Given the description of an element on the screen output the (x, y) to click on. 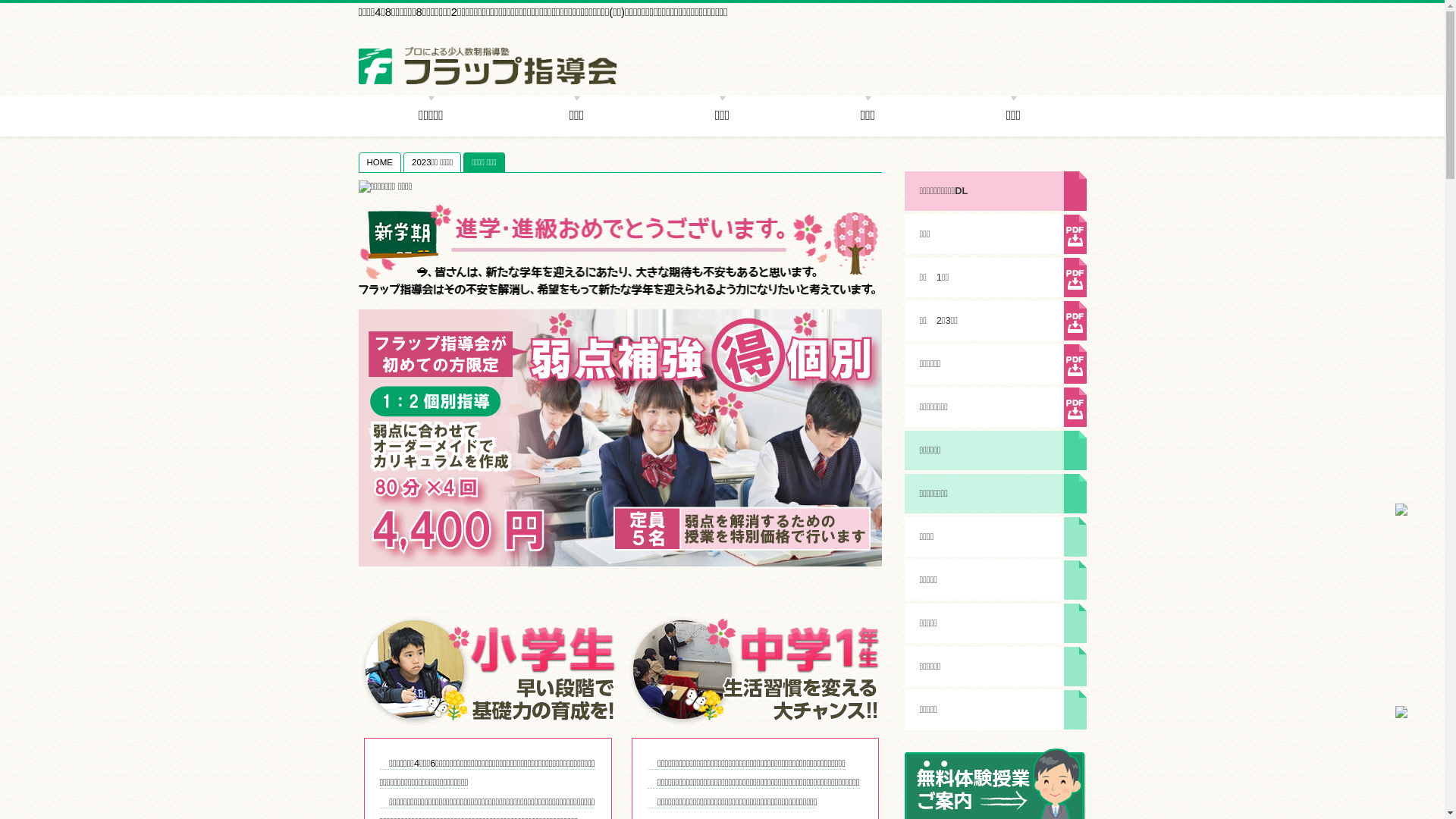
HOME Element type: text (380, 161)
